Given the description of an element on the screen output the (x, y) to click on. 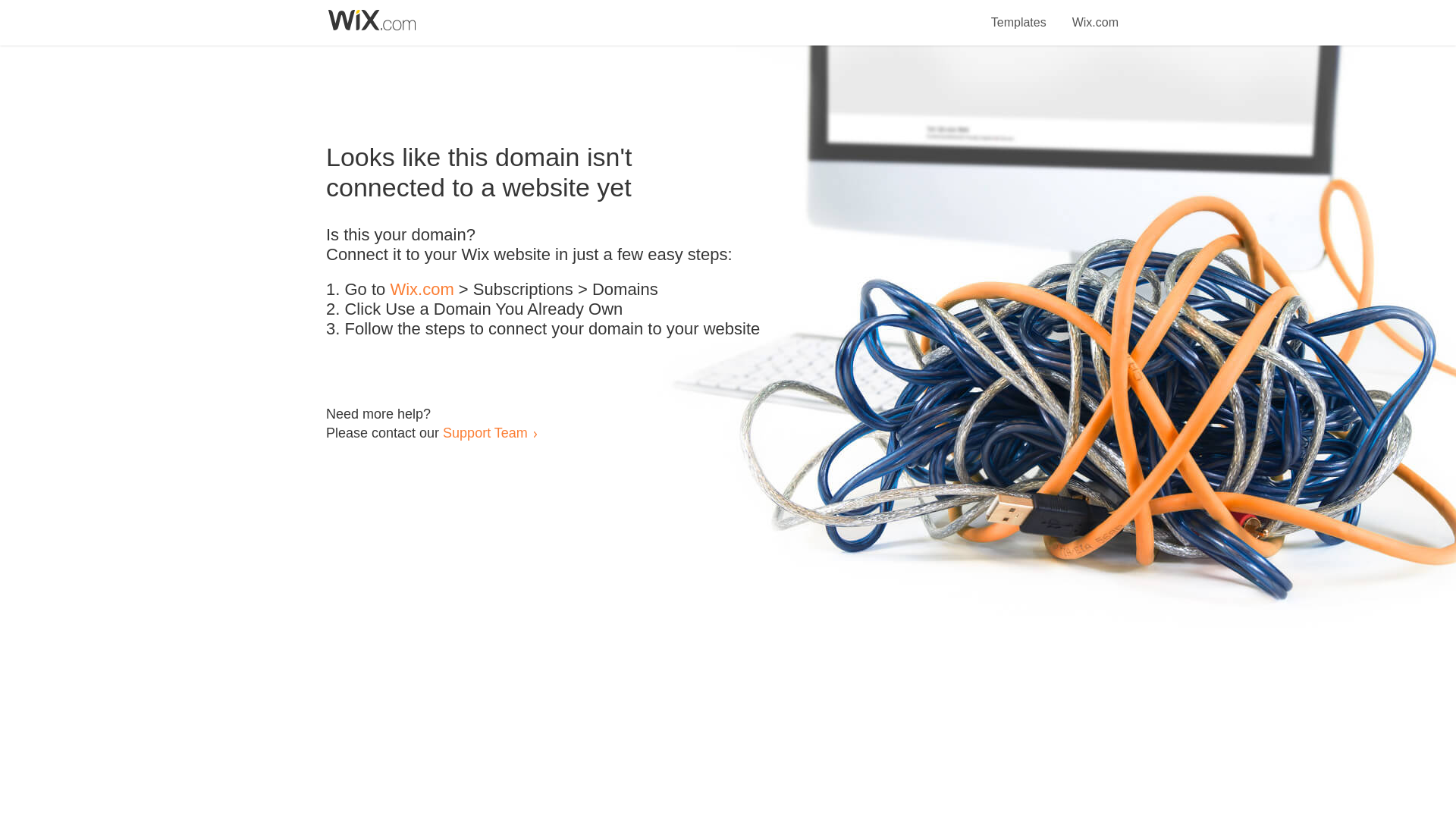
Wix.com (421, 289)
Templates (1018, 14)
Support Team (484, 432)
Wix.com (1095, 14)
